Given the description of an element on the screen output the (x, y) to click on. 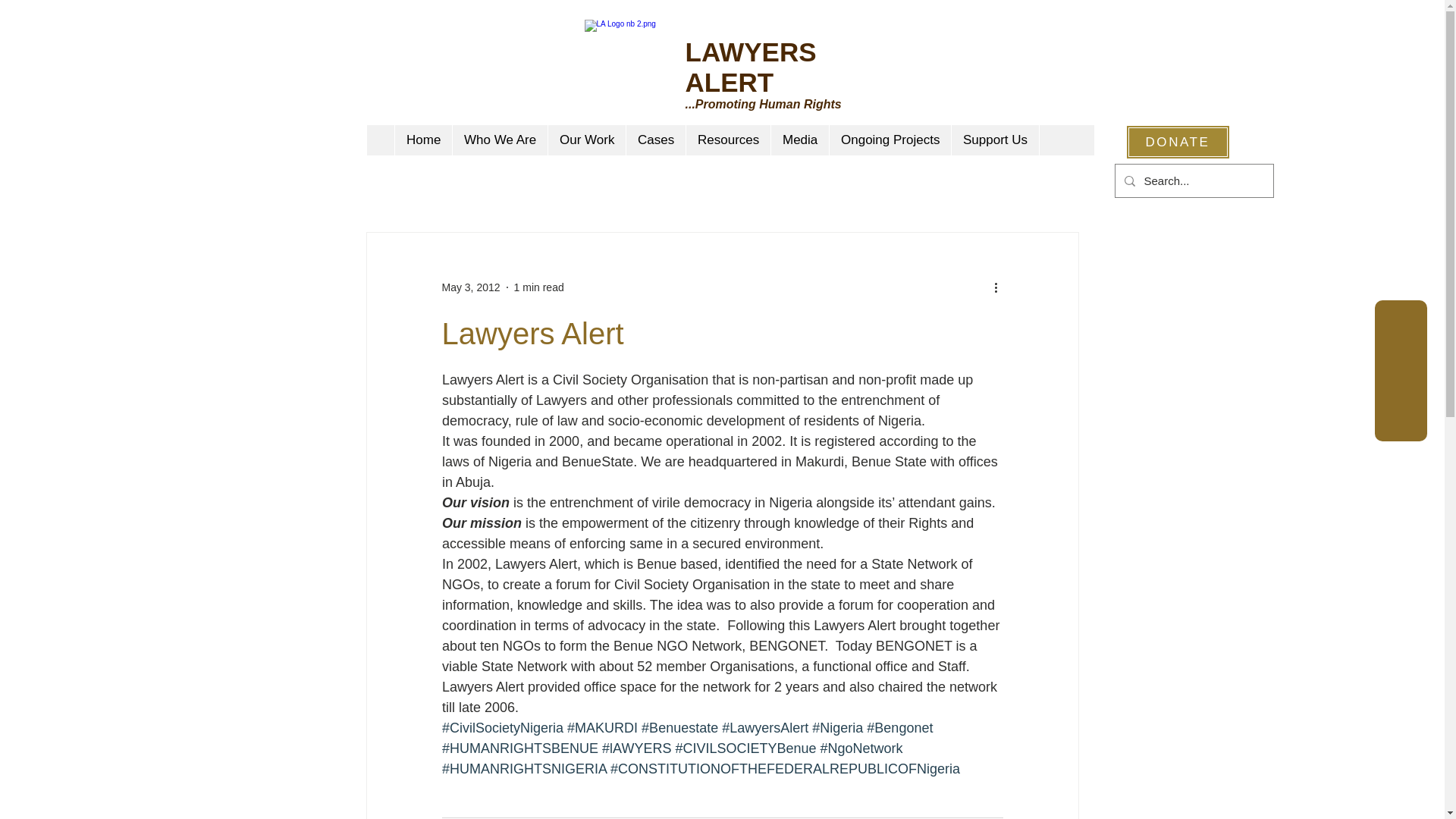
1 min read (538, 286)
May 3, 2012 (470, 286)
Home (422, 140)
Ongoing Projects (889, 140)
Support Us (994, 140)
LAWYERS ALERT (750, 66)
DONATE (1176, 141)
Cases (655, 140)
